Given the description of an element on the screen output the (x, y) to click on. 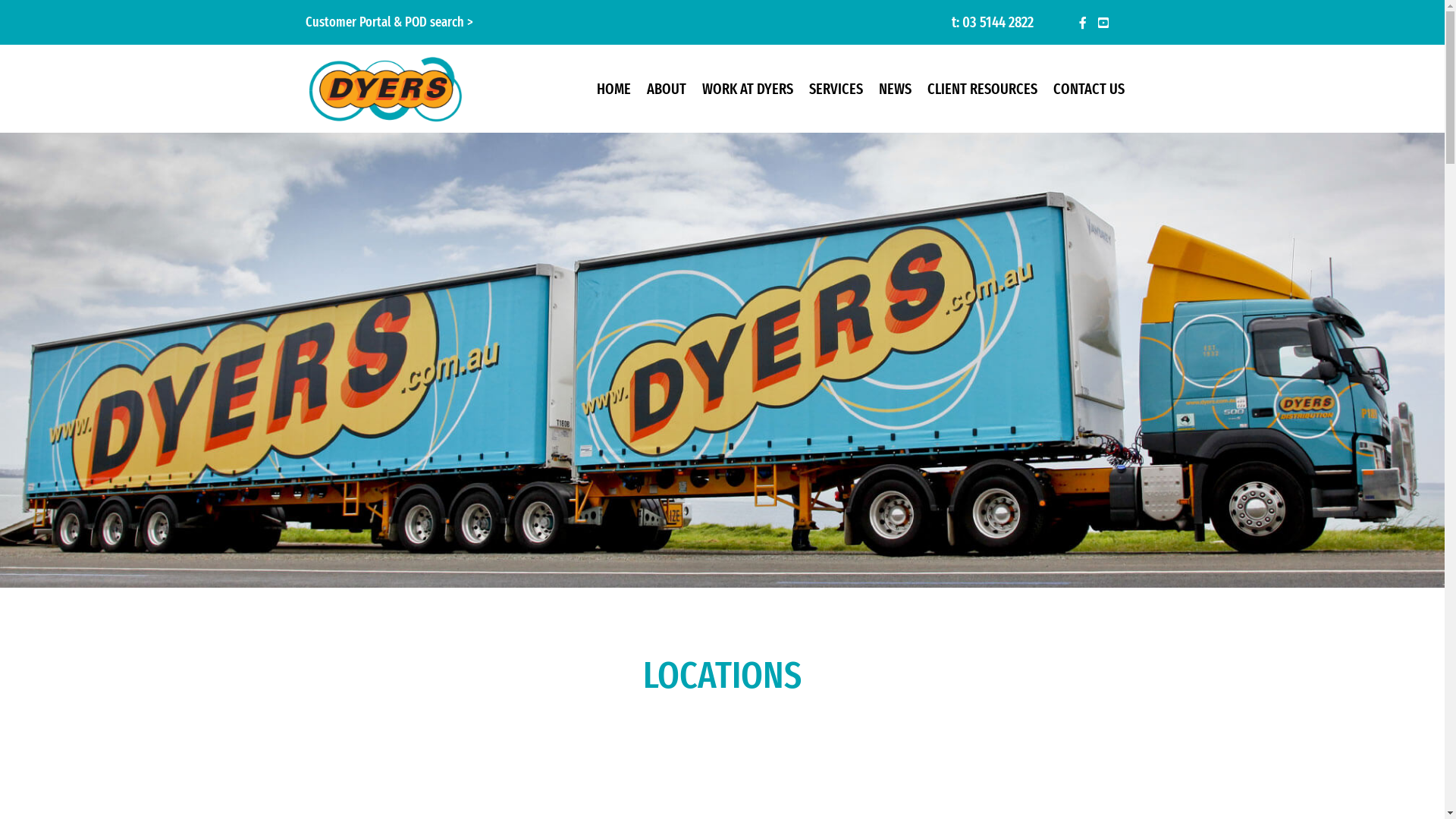
Customer Portal & POD search > Element type: text (388, 21)
t: 03 5144 2822 Element type: text (992, 21)
ABOUT Element type: text (666, 88)
CLIENT RESOURCES Element type: text (981, 88)
CONTACT US Element type: text (1088, 88)
HOME Element type: text (613, 88)
Dyers Distribution Element type: hover (386, 88)
NEWS Element type: text (895, 88)
WORK AT DYERS Element type: text (747, 88)
SERVICES Element type: text (835, 88)
